Given the description of an element on the screen output the (x, y) to click on. 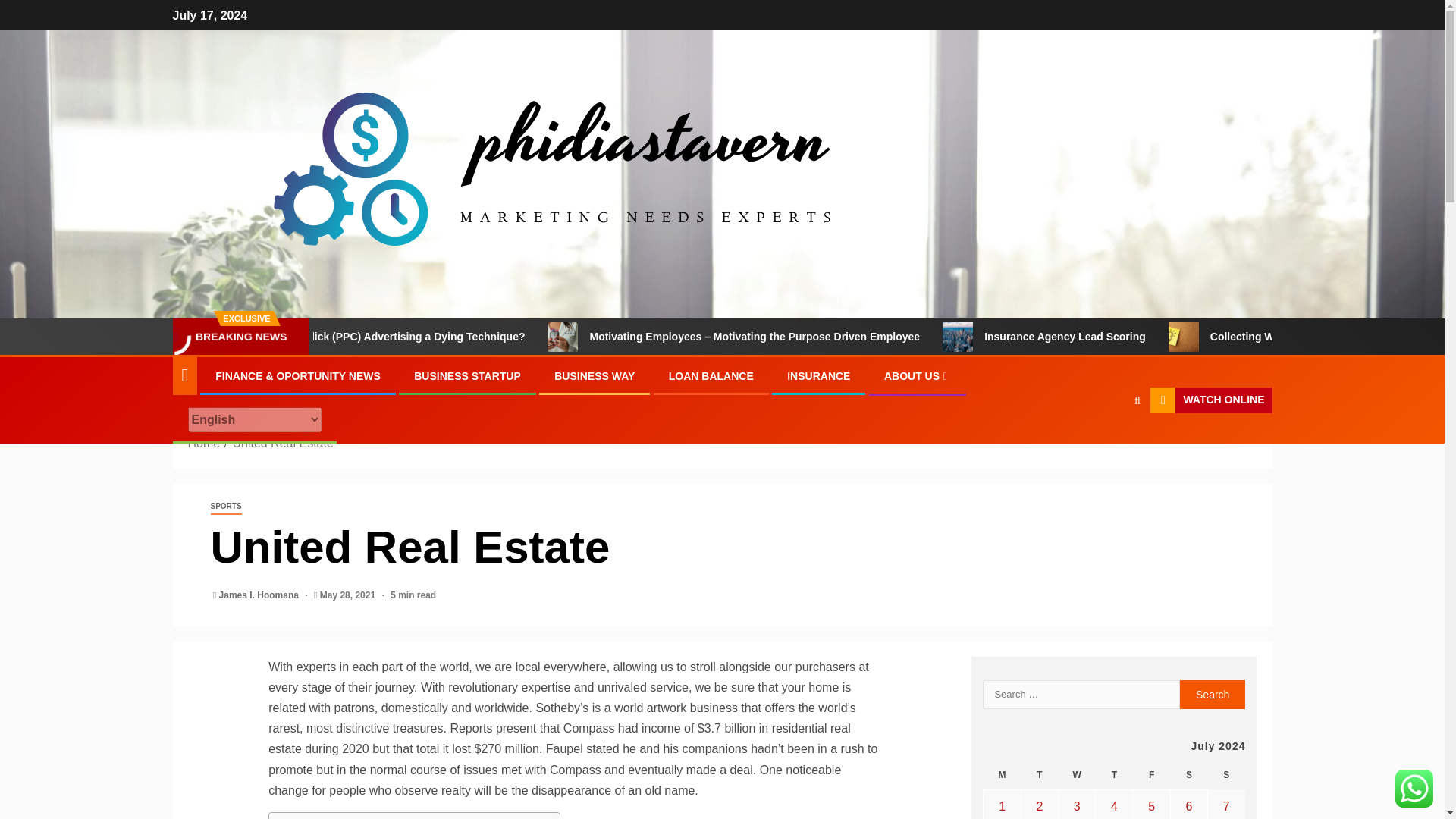
SPORTS (226, 506)
ABOUT US (916, 376)
INSURANCE (818, 376)
Insurance Agency Lead Scoring (1158, 336)
Search (1212, 694)
Search (1212, 694)
United Real Estate (282, 442)
James I. Hoomana (260, 594)
Home (204, 442)
WATCH ONLINE (1210, 400)
Insurance Agency Lead Scoring (1028, 336)
Search (1136, 399)
BUSINESS WAY (594, 376)
BUSINESS STARTUP (467, 376)
Search (1107, 446)
